Given the description of an element on the screen output the (x, y) to click on. 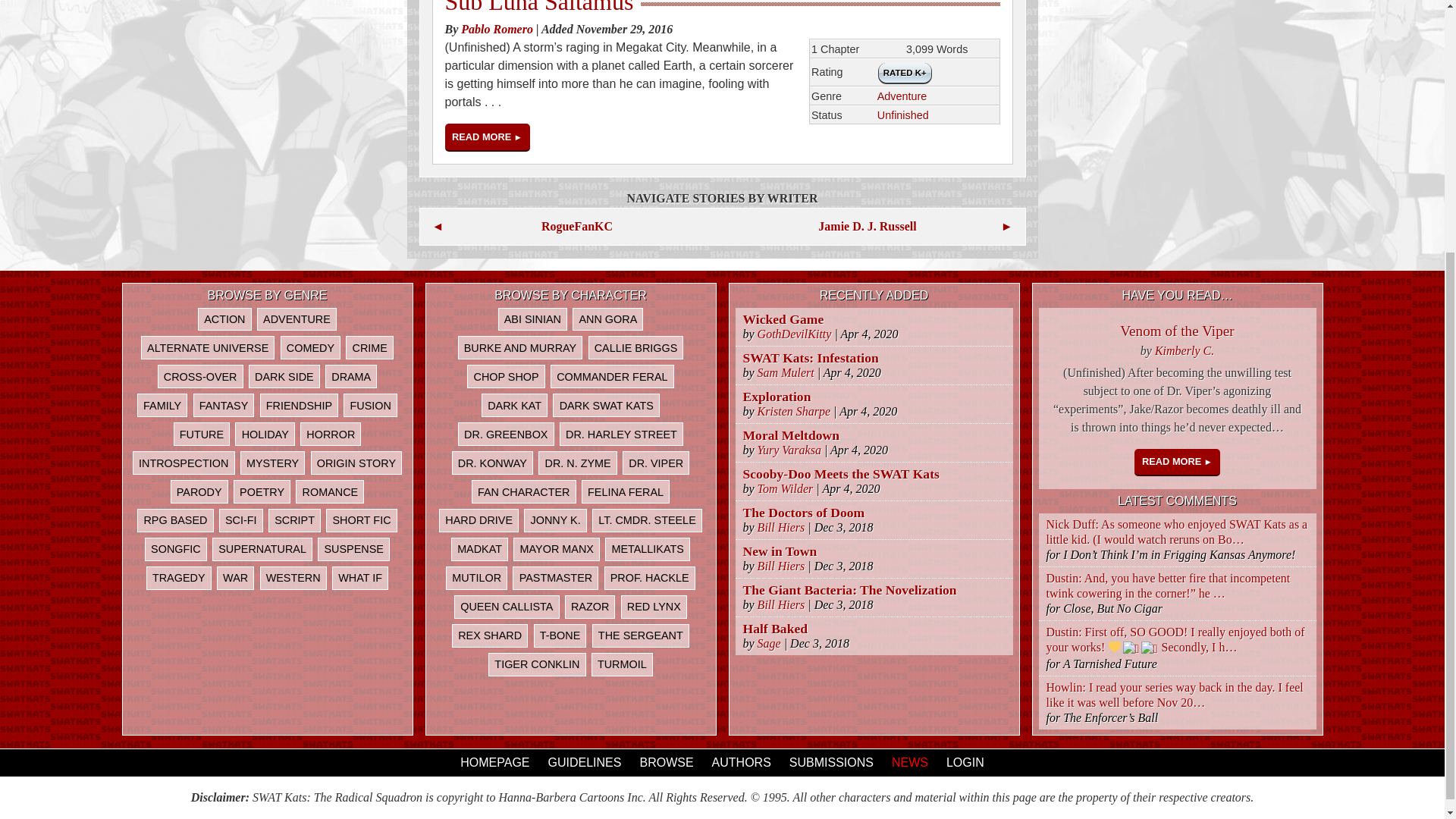
Pablo Romero (496, 29)
Unfinished (902, 114)
Sub Luna Saltamus (486, 136)
Sub Luna Saltamus (538, 7)
Adventure (902, 96)
